Given the description of an element on the screen output the (x, y) to click on. 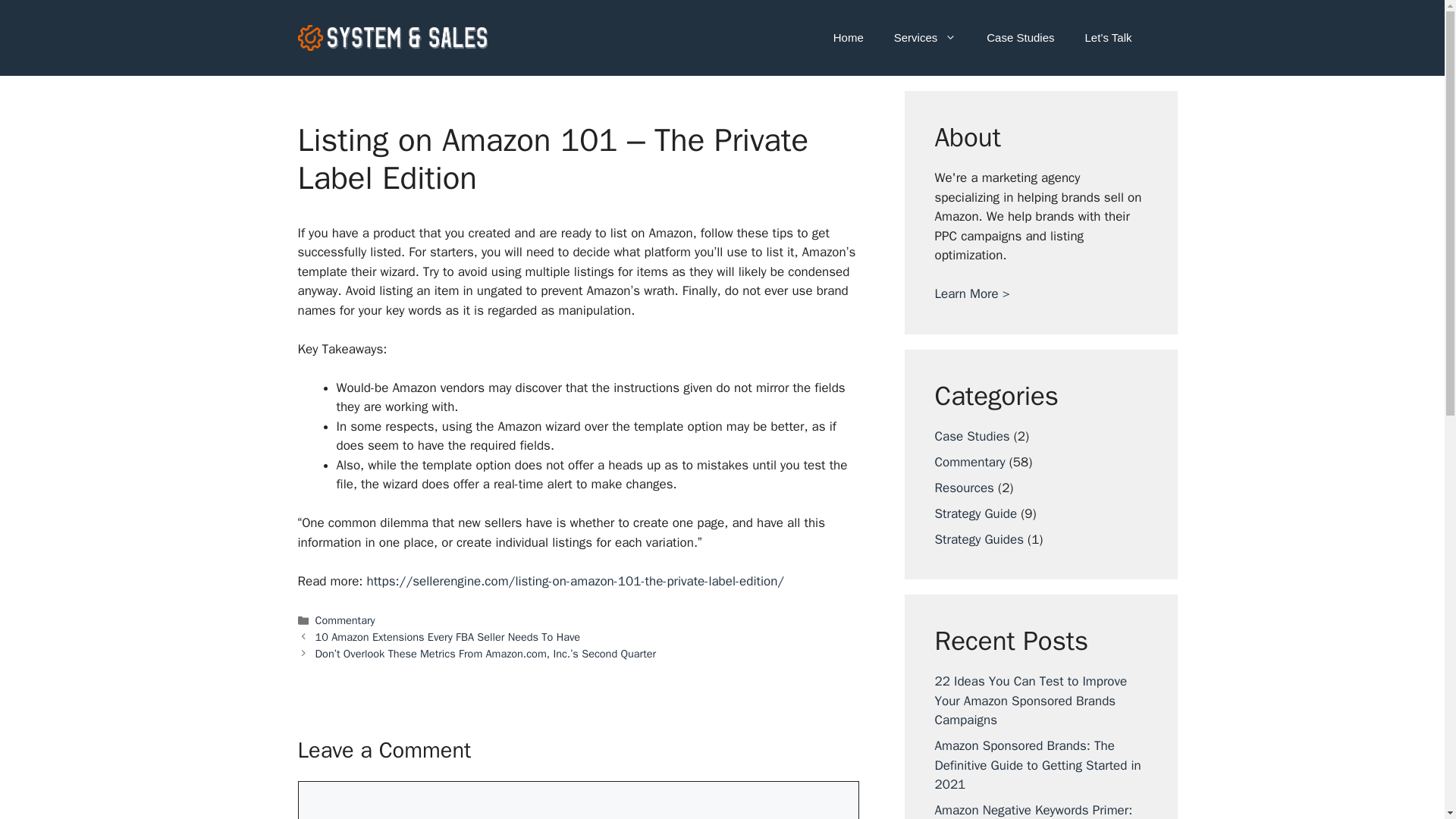
Case Studies (1019, 37)
Strategy Guides (978, 538)
10 Amazon Extensions Every FBA Seller Needs To Have (447, 636)
Resources (963, 487)
Commentary (345, 620)
Case Studies (971, 435)
Home (848, 37)
Strategy Guide (975, 512)
